Given the description of an element on the screen output the (x, y) to click on. 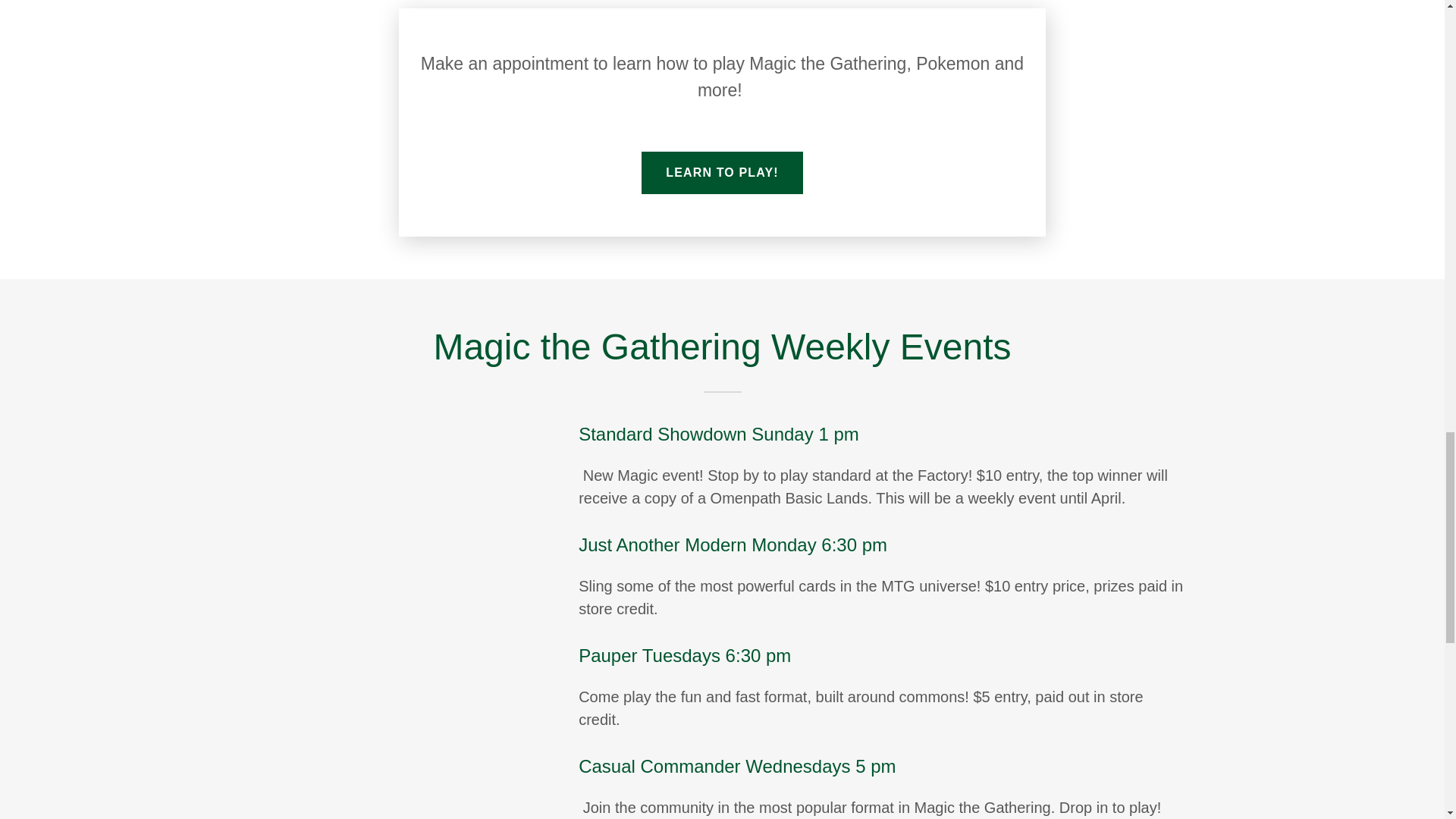
LEARN TO PLAY! (722, 172)
